Given the description of an element on the screen output the (x, y) to click on. 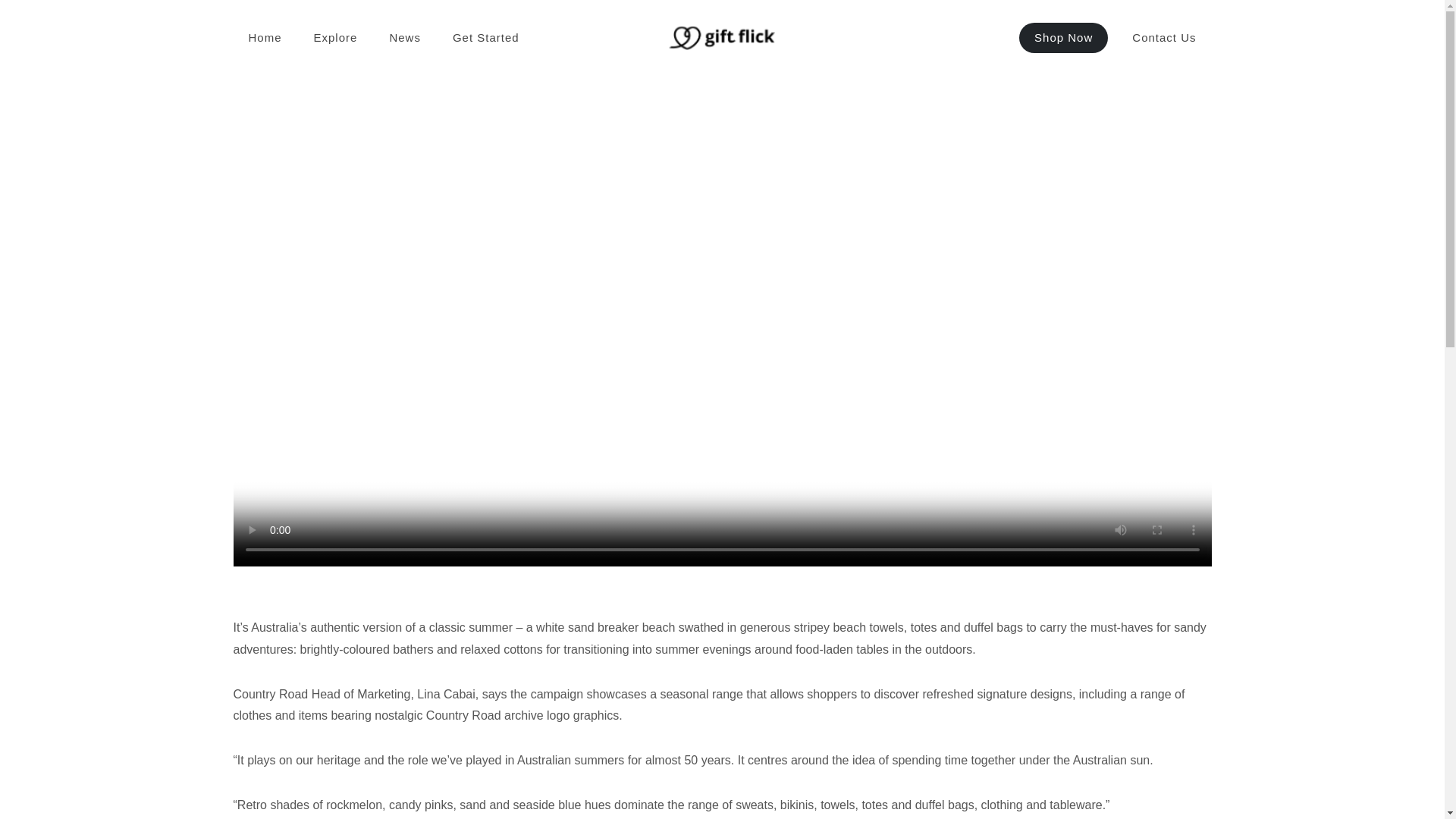
Shop Now (1063, 38)
Get Started (486, 38)
Explore (335, 38)
News (404, 38)
Home (264, 38)
Contact Us (1163, 38)
